Given the description of an element on the screen output the (x, y) to click on. 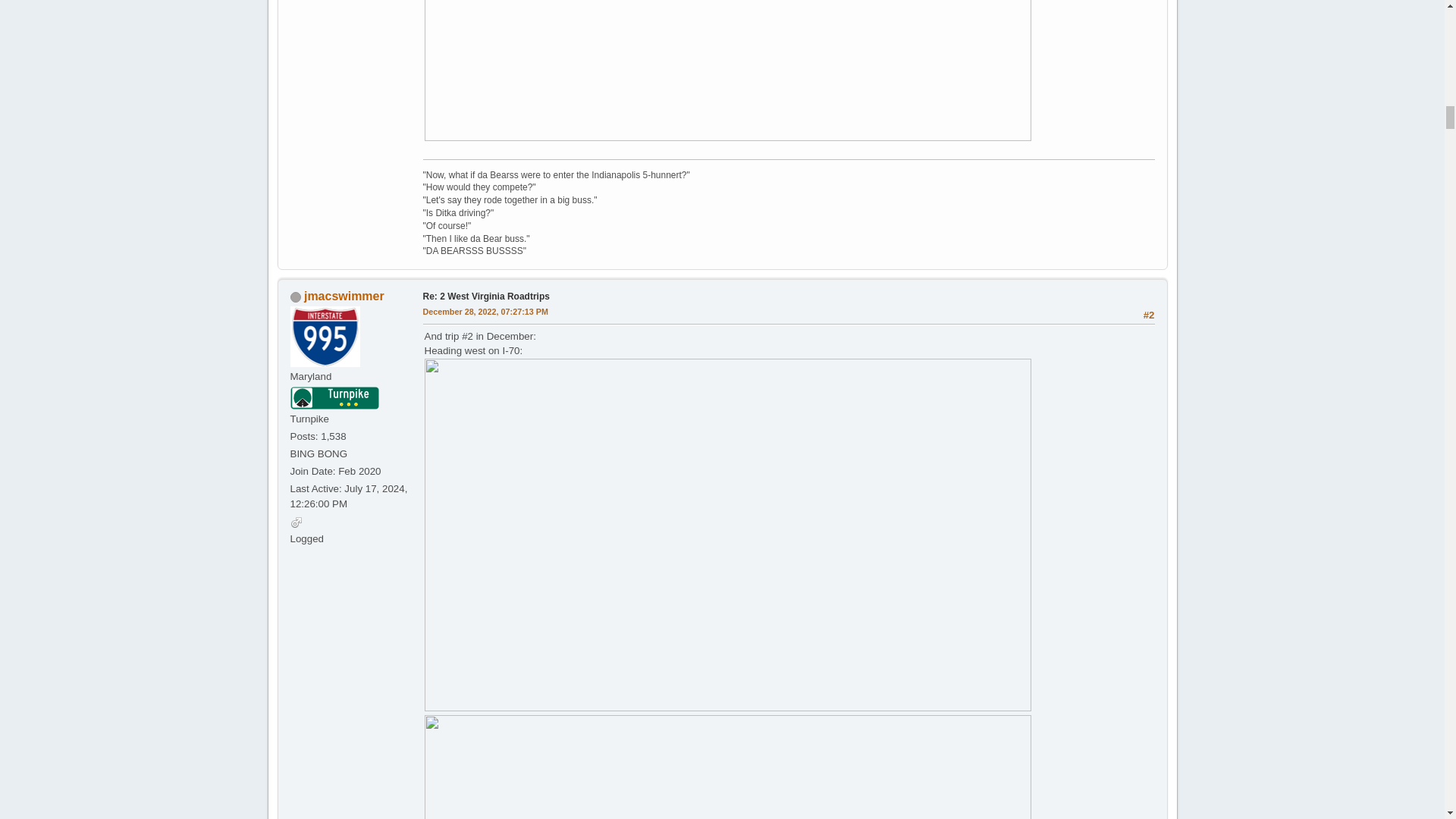
Offline (294, 296)
Re: 2 West Virginia Roadtrips (486, 296)
December 28, 2022, 07:27:13 PM (485, 312)
Male (295, 521)
jmacswimmer (344, 295)
View the profile of jmacswimmer (344, 295)
